Given the description of an element on the screen output the (x, y) to click on. 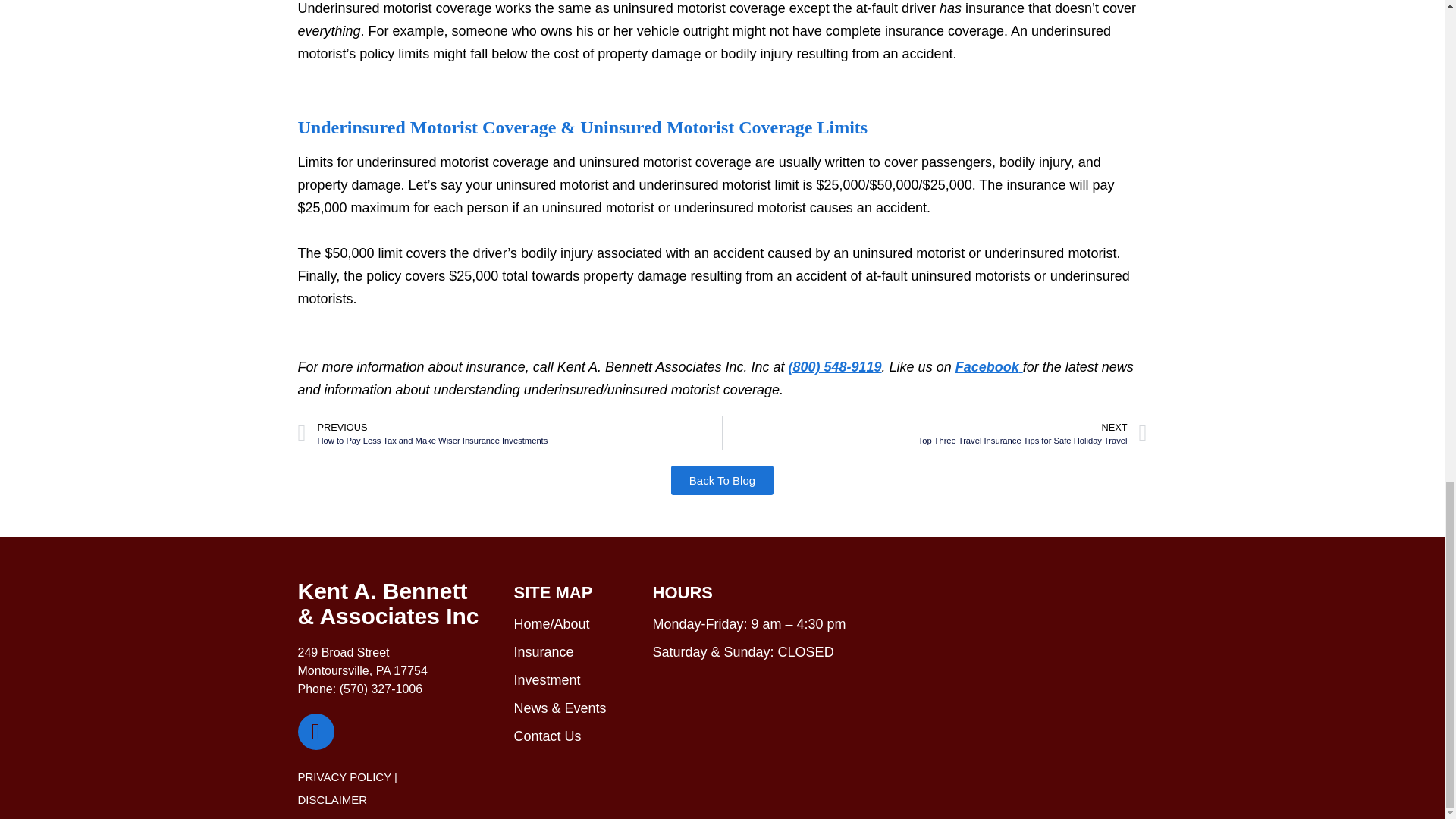
PRIVACY POLICY (343, 776)
Back To Blog (722, 480)
Facebook (989, 366)
249 Broad Street, Montoursville, PA (1009, 663)
Contact Us (546, 735)
Investment (546, 679)
DISCLAIMER (331, 799)
Insurance (934, 433)
